Given the description of an element on the screen output the (x, y) to click on. 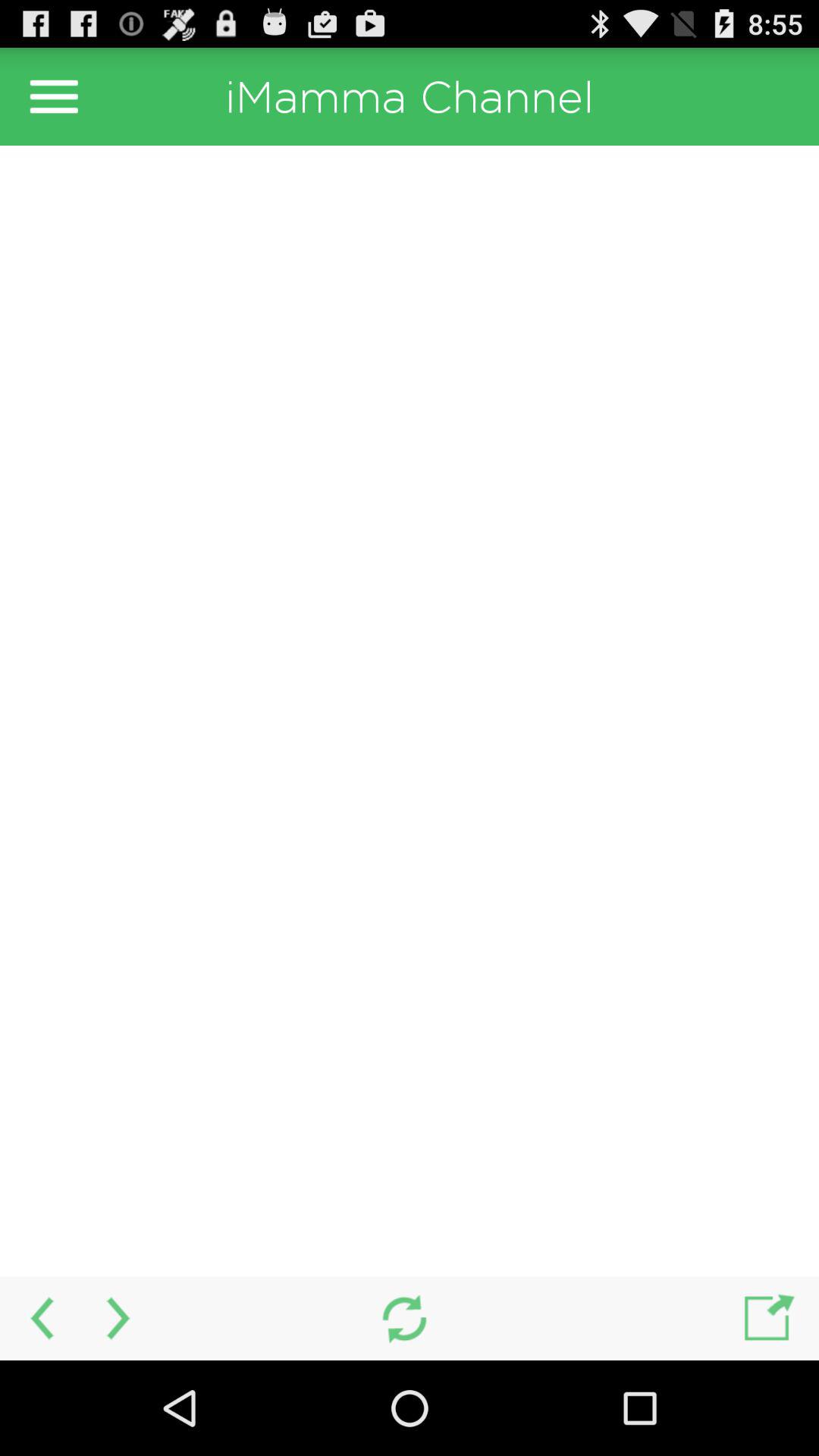
reload the window (404, 1318)
